Given the description of an element on the screen output the (x, y) to click on. 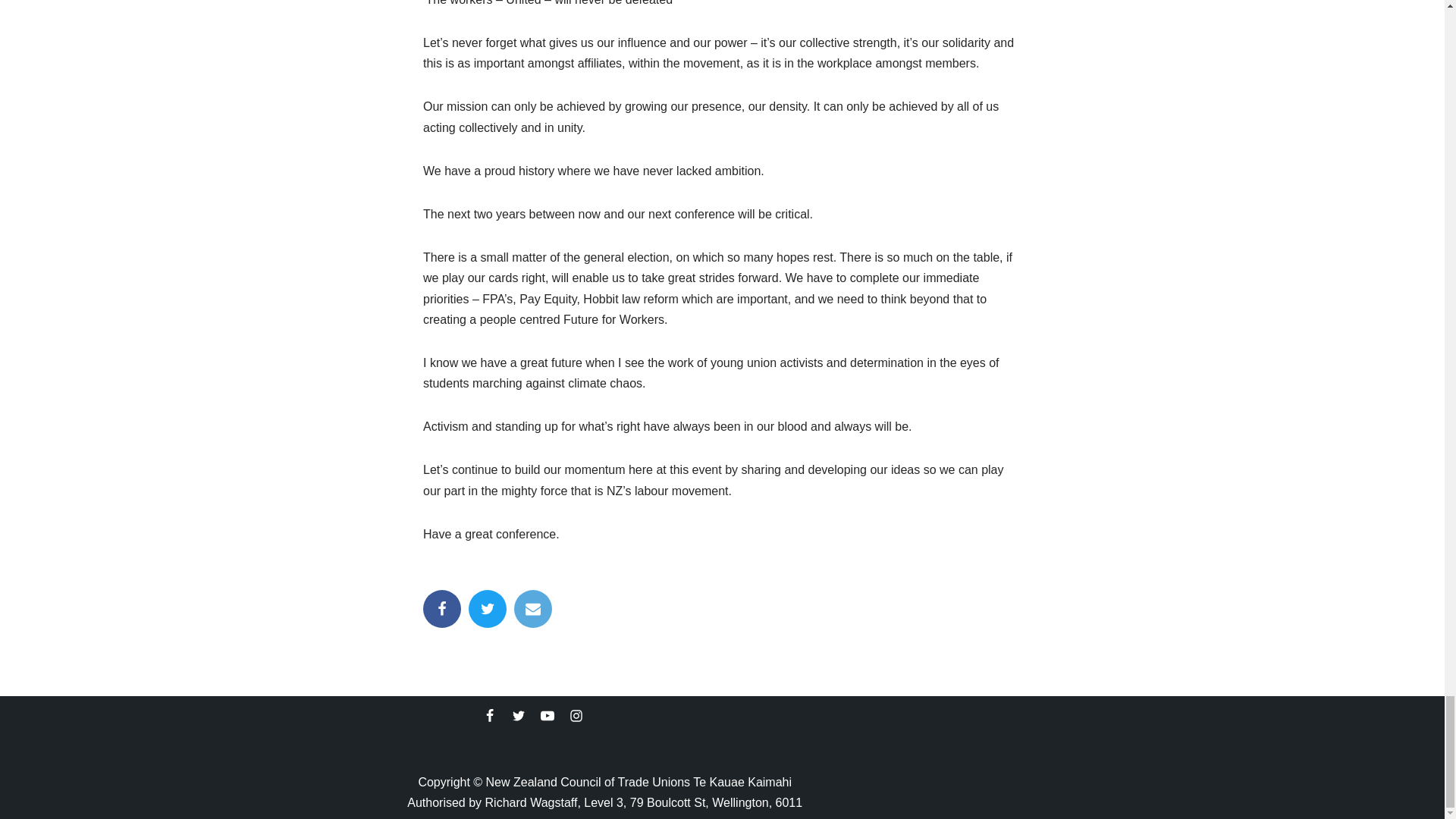
Twitter (518, 715)
Instagram (576, 715)
Facebook (442, 608)
Youtube (547, 715)
Email (532, 608)
Twitter (487, 608)
Facebook (489, 715)
